Given the description of an element on the screen output the (x, y) to click on. 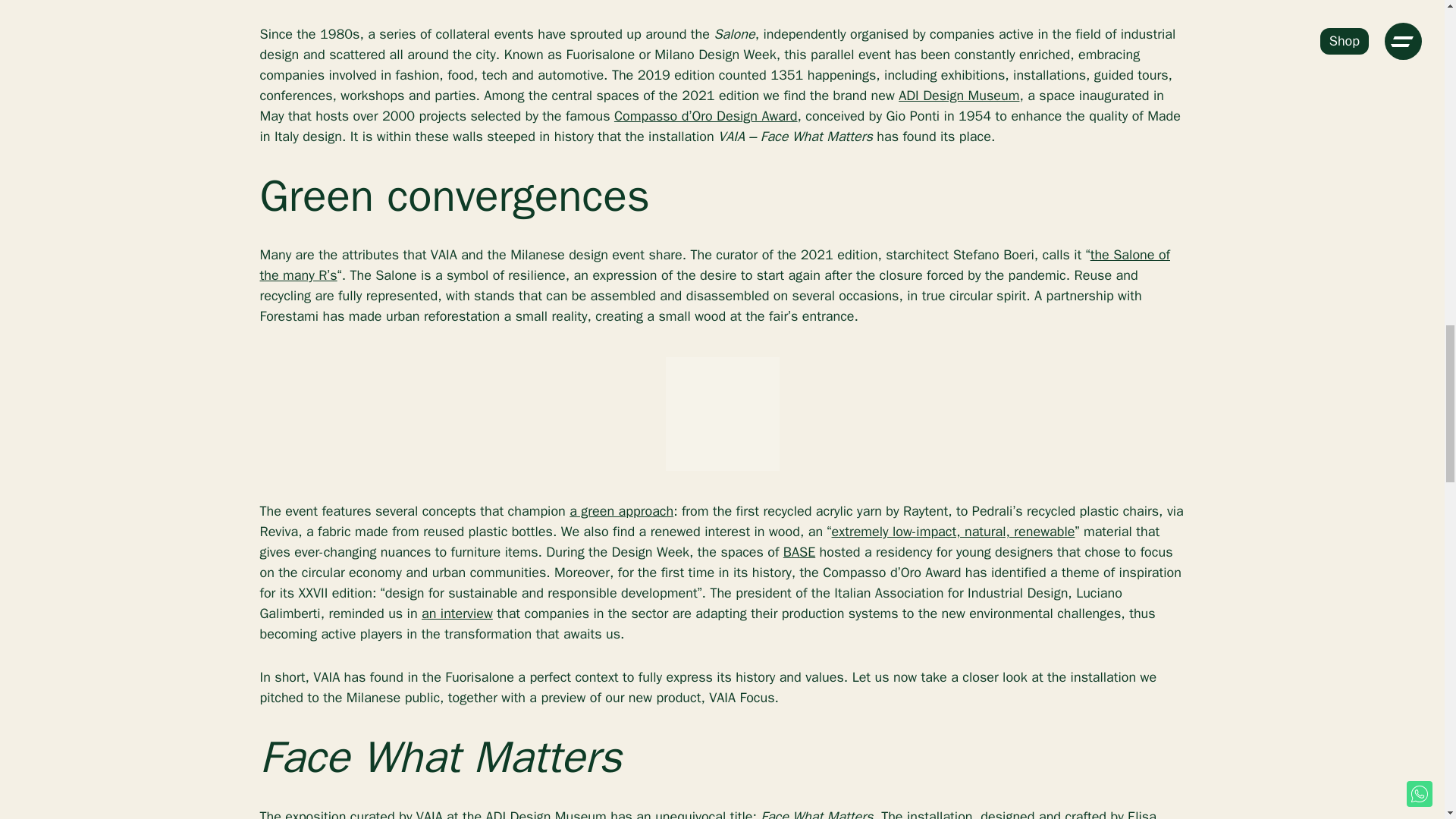
BASE (799, 551)
an interview (457, 613)
extremely low-impact, natural, renewable (953, 531)
a green approach (620, 510)
ADI Design Museum (958, 95)
